Given the description of an element on the screen output the (x, y) to click on. 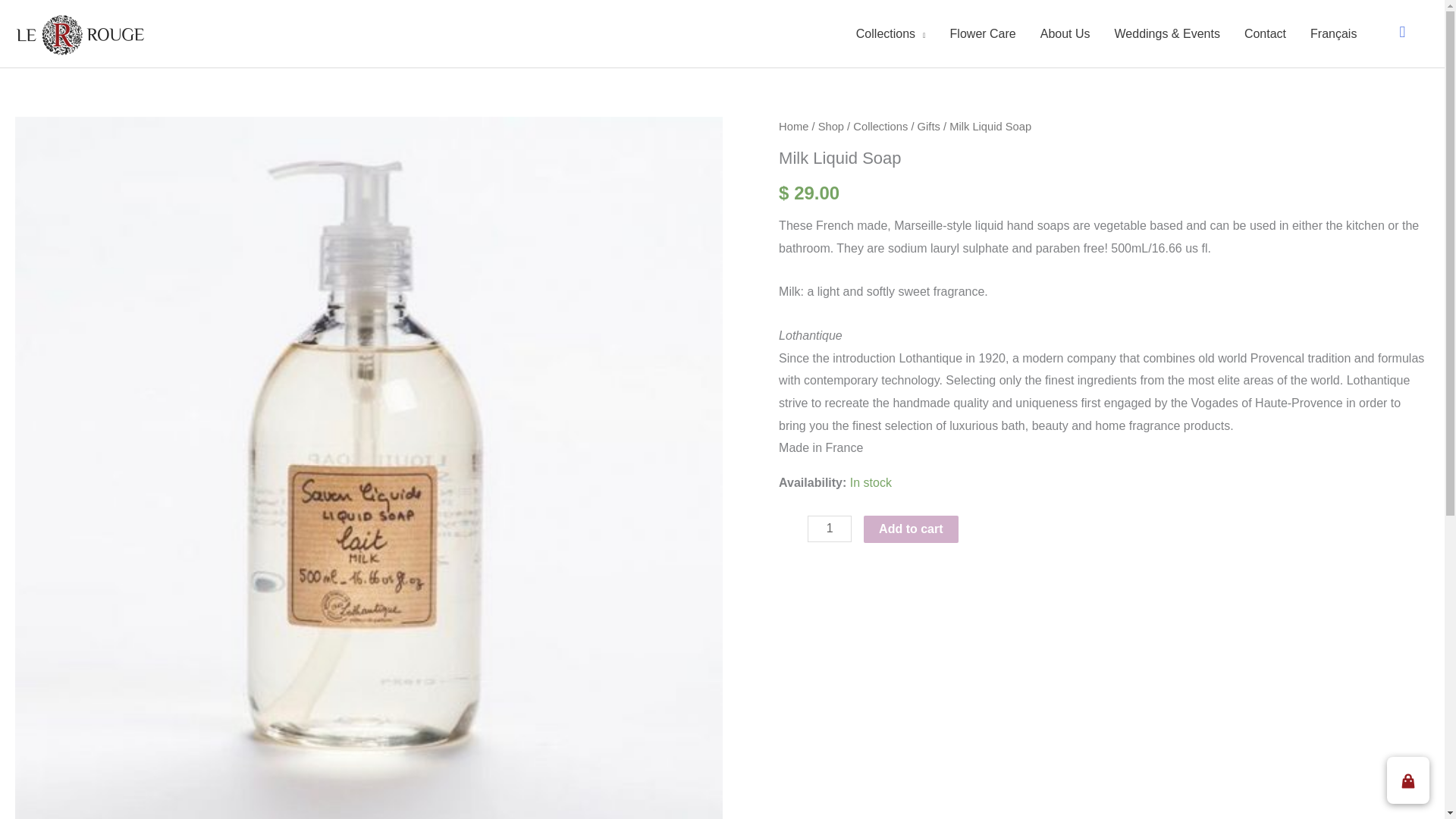
1 (829, 528)
Flower Care (982, 33)
Add to cart (910, 528)
Collections (890, 33)
Gifts (928, 126)
Shop (831, 126)
Contact (1264, 33)
Collections (880, 126)
Home (793, 126)
About Us (1064, 33)
